Given the description of an element on the screen output the (x, y) to click on. 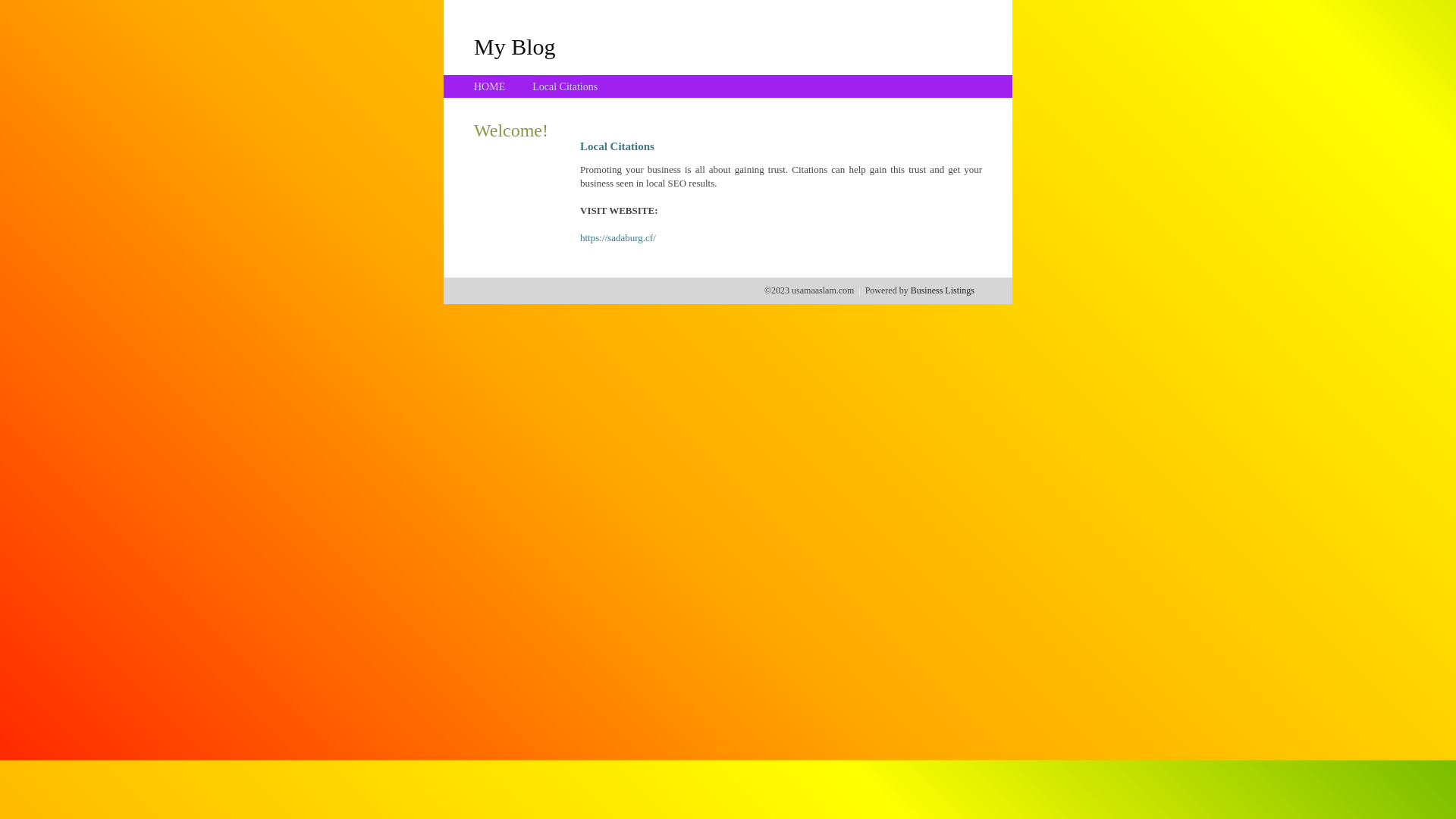
Local Citations Element type: text (564, 86)
My Blog Element type: text (514, 46)
HOME Element type: text (489, 86)
Business Listings Element type: text (942, 290)
https://sadaburg.cf/ Element type: text (617, 237)
